Given the description of an element on the screen output the (x, y) to click on. 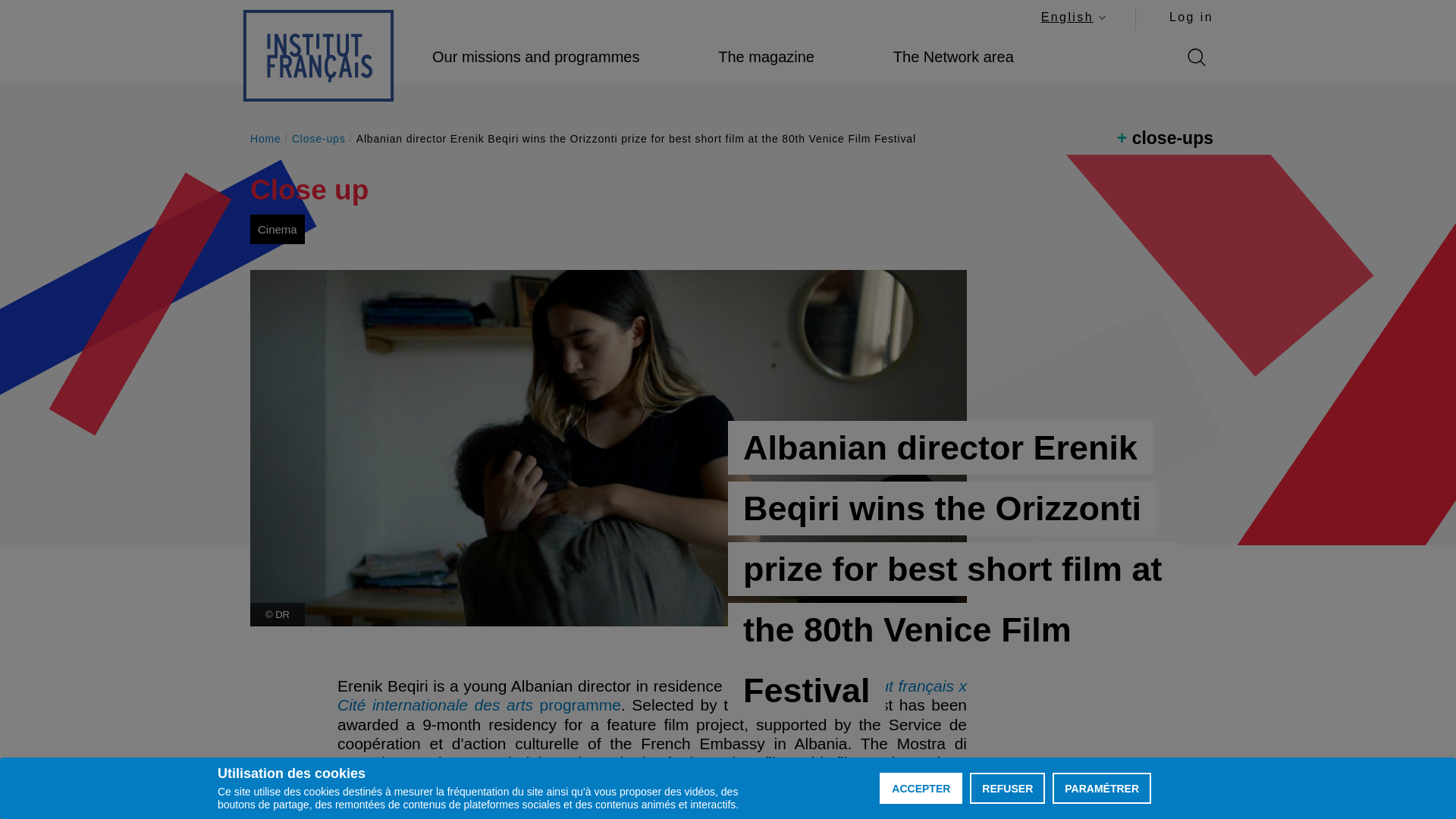
Our missions and programmes (535, 57)
Home (318, 55)
Accept cookies (920, 788)
ACCEPTER (920, 788)
Skip to main content (1071, 16)
Log in (766, 57)
REFUSER (1190, 16)
